Given the description of an element on the screen output the (x, y) to click on. 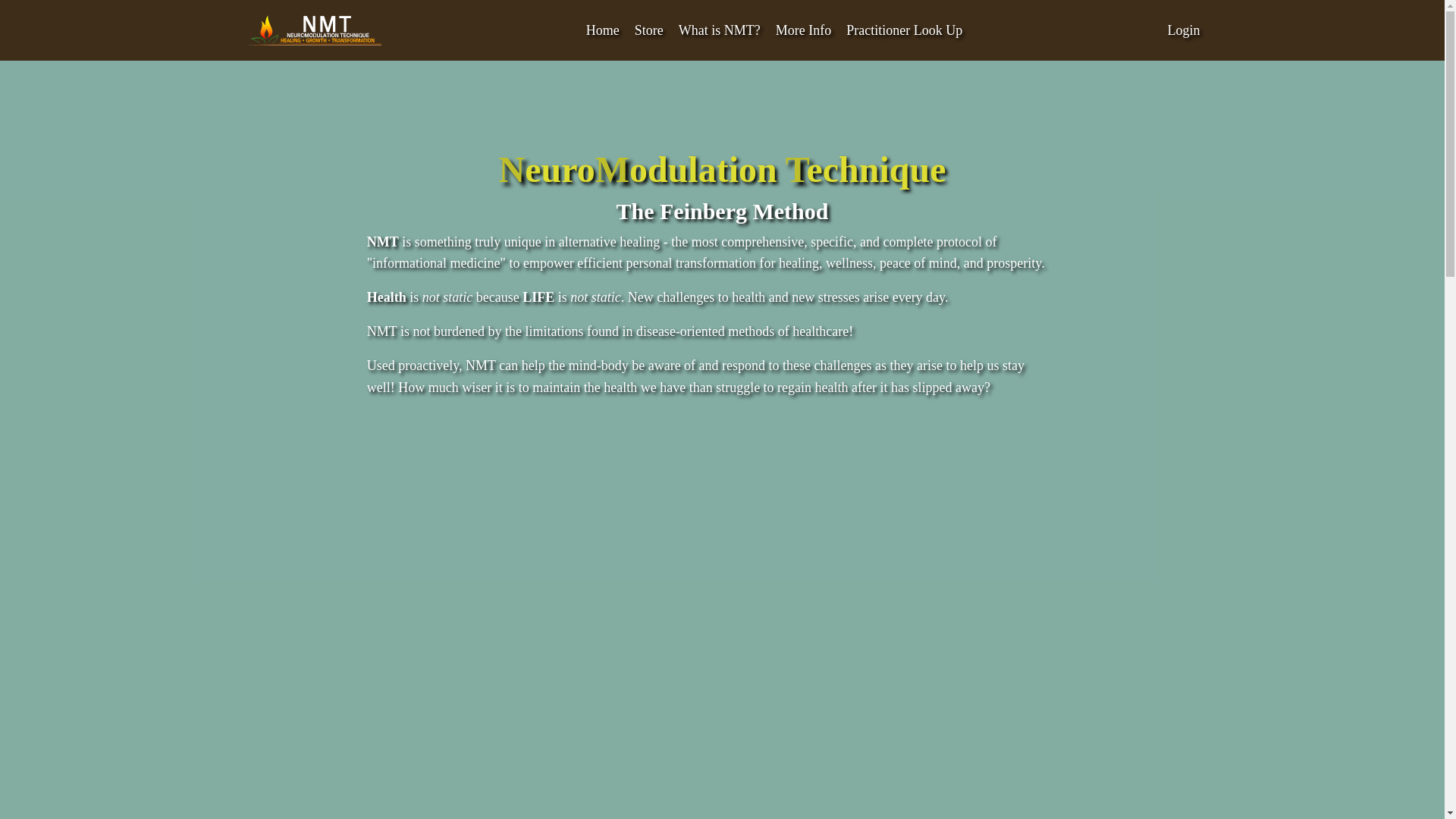
Store (648, 30)
What is NMT? (719, 30)
More Info (803, 30)
Home (603, 30)
Login (1183, 29)
Practitioner Look Up (903, 30)
